Given the description of an element on the screen output the (x, y) to click on. 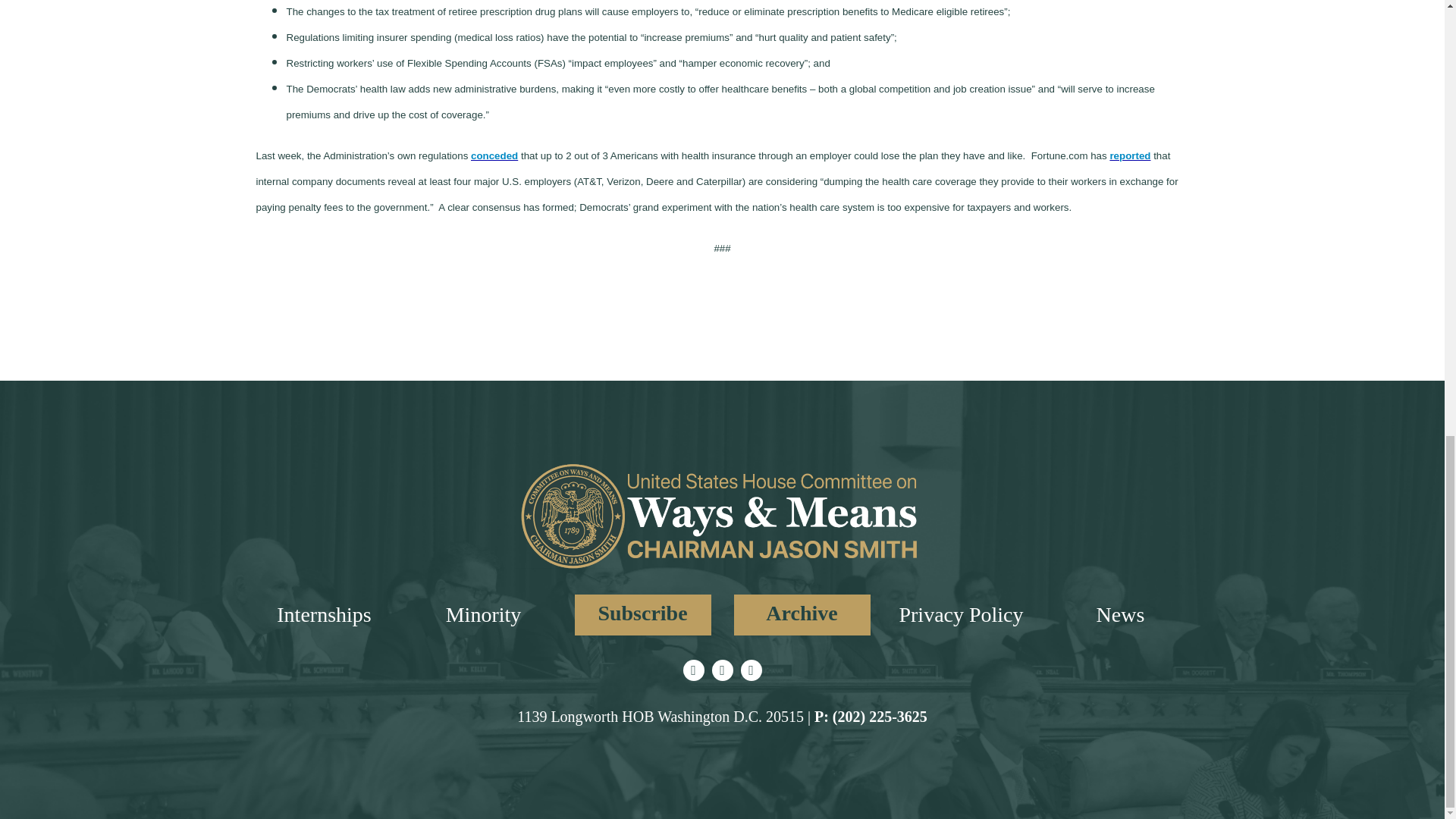
Twitter (692, 670)
reported (1129, 155)
Instagram (721, 670)
Internships (323, 614)
Youtube (750, 670)
Minority (483, 614)
Archive (801, 614)
Subscribe (643, 614)
Privacy Policy (960, 614)
News (1120, 614)
conceded (494, 155)
